Given the description of an element on the screen output the (x, y) to click on. 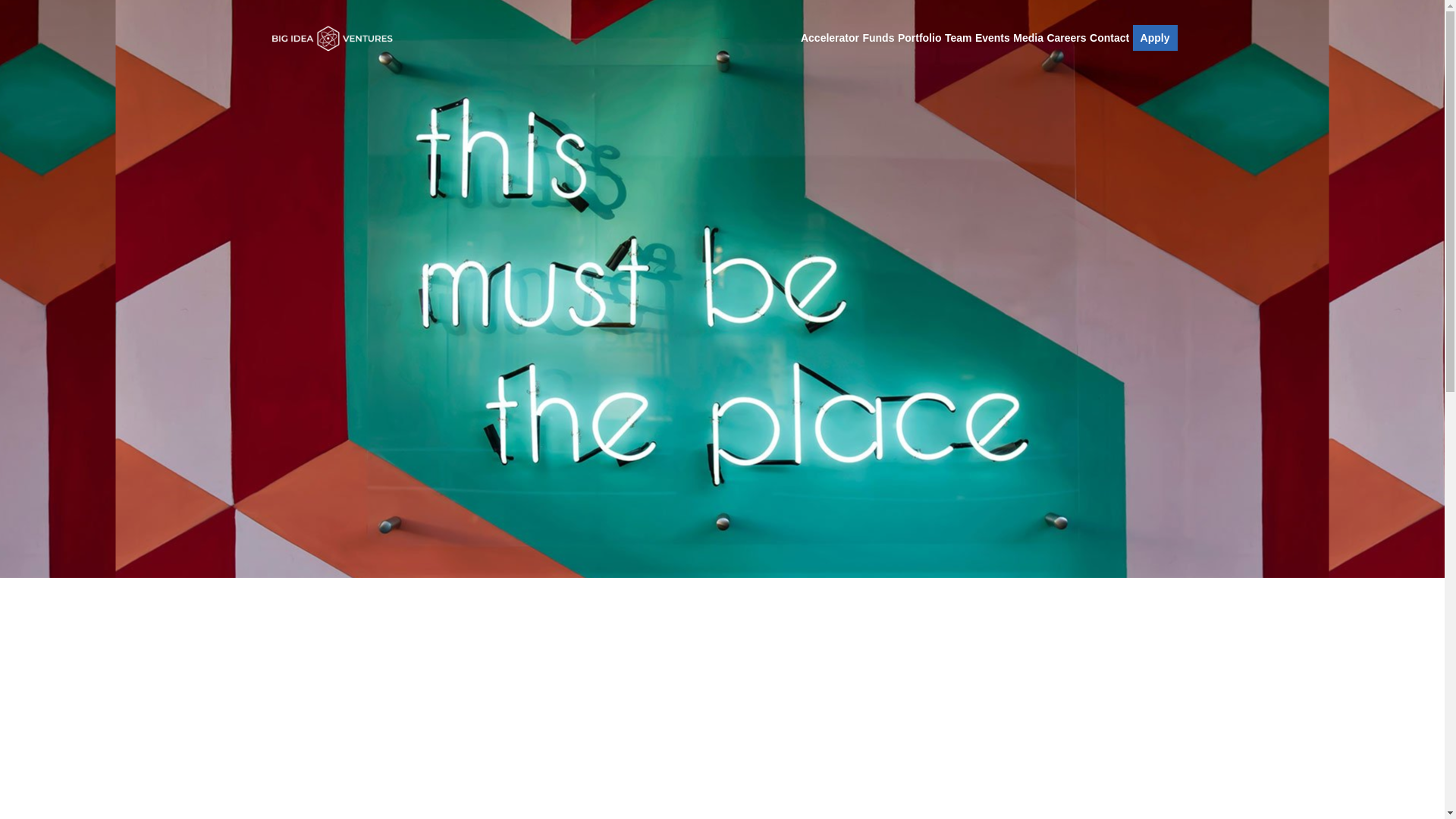
Apply (1154, 37)
Events (992, 37)
Accelerator (829, 37)
Funds (877, 37)
Media (1028, 37)
Portfolio (920, 37)
Team (958, 37)
Contact (1109, 37)
Careers (1066, 37)
